Given the description of an element on the screen output the (x, y) to click on. 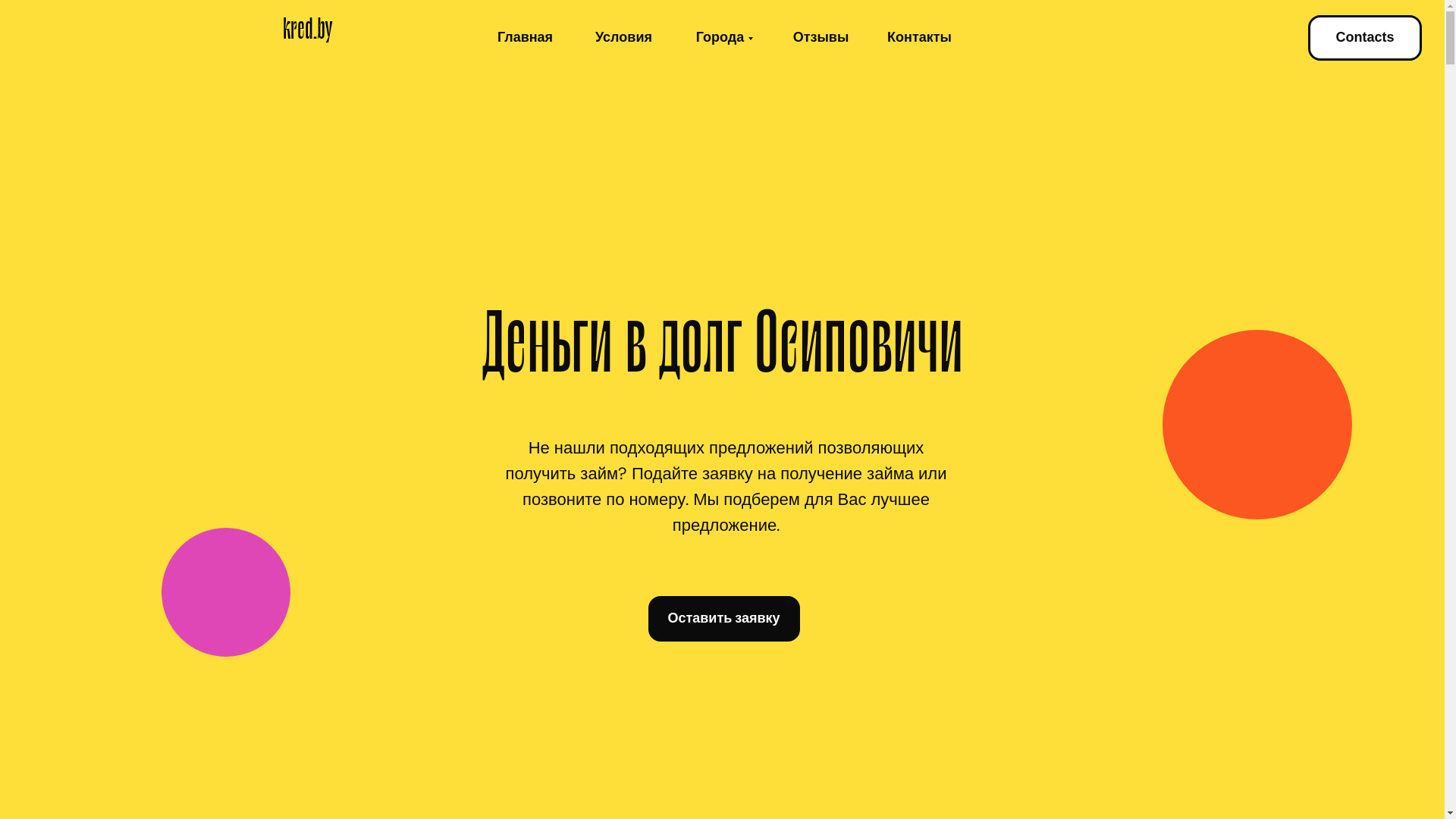
Contacts Element type: text (1364, 37)
